Given the description of an element on the screen output the (x, y) to click on. 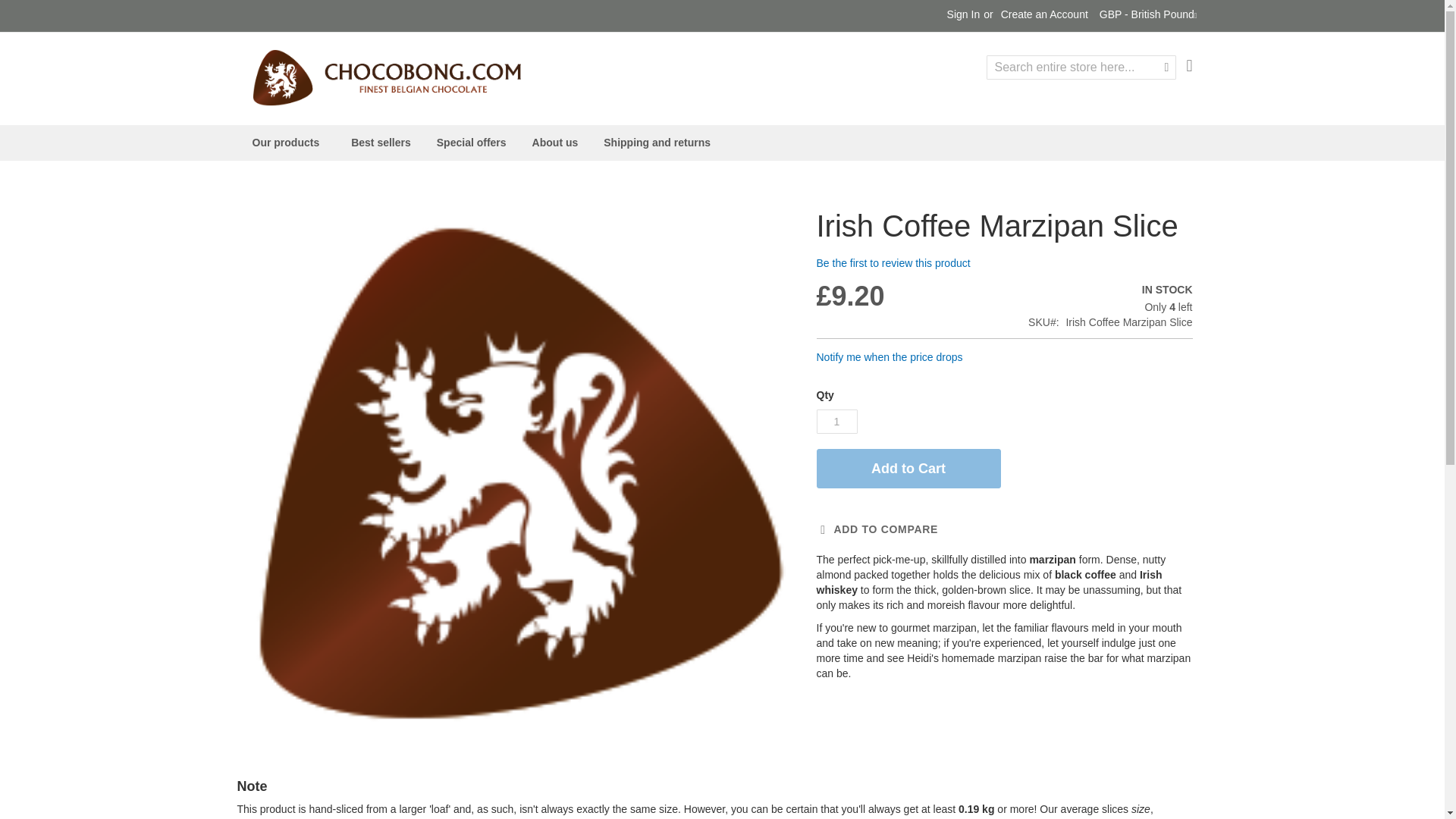
Our products (288, 142)
Best sellers (381, 142)
Create an Account (1044, 14)
Add to Cart (907, 468)
Qty (836, 421)
Availability (1109, 290)
Notify me when the price drops (888, 357)
Chocobong.com (385, 77)
1 (836, 421)
Only 4 left (1109, 307)
Sign In (963, 14)
About us (555, 142)
Shipping and returns (656, 142)
Special offers (471, 142)
